Given the description of an element on the screen output the (x, y) to click on. 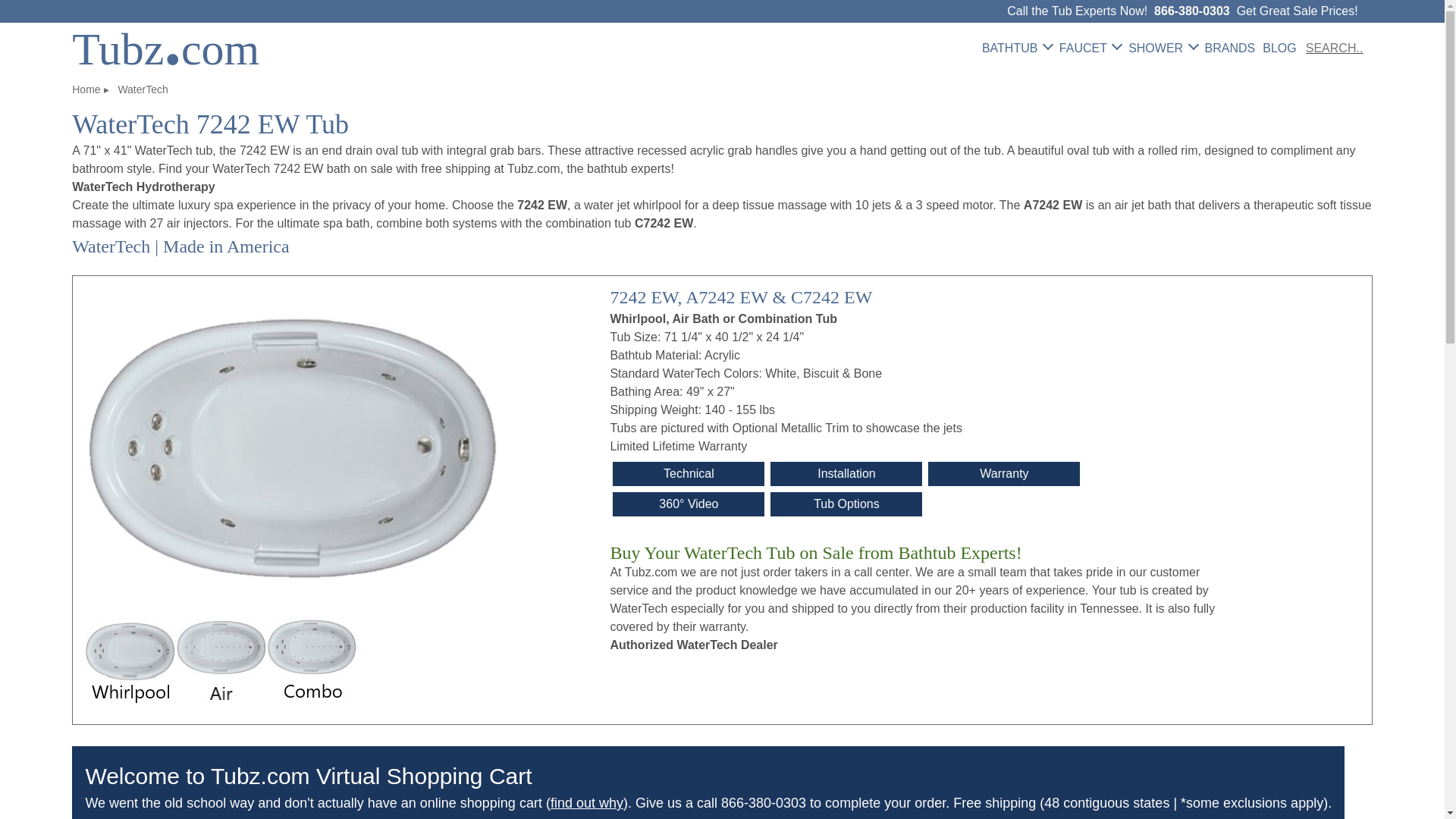
866-380-0303 (1192, 10)
Tubz.com (165, 49)
